Given the description of an element on the screen output the (x, y) to click on. 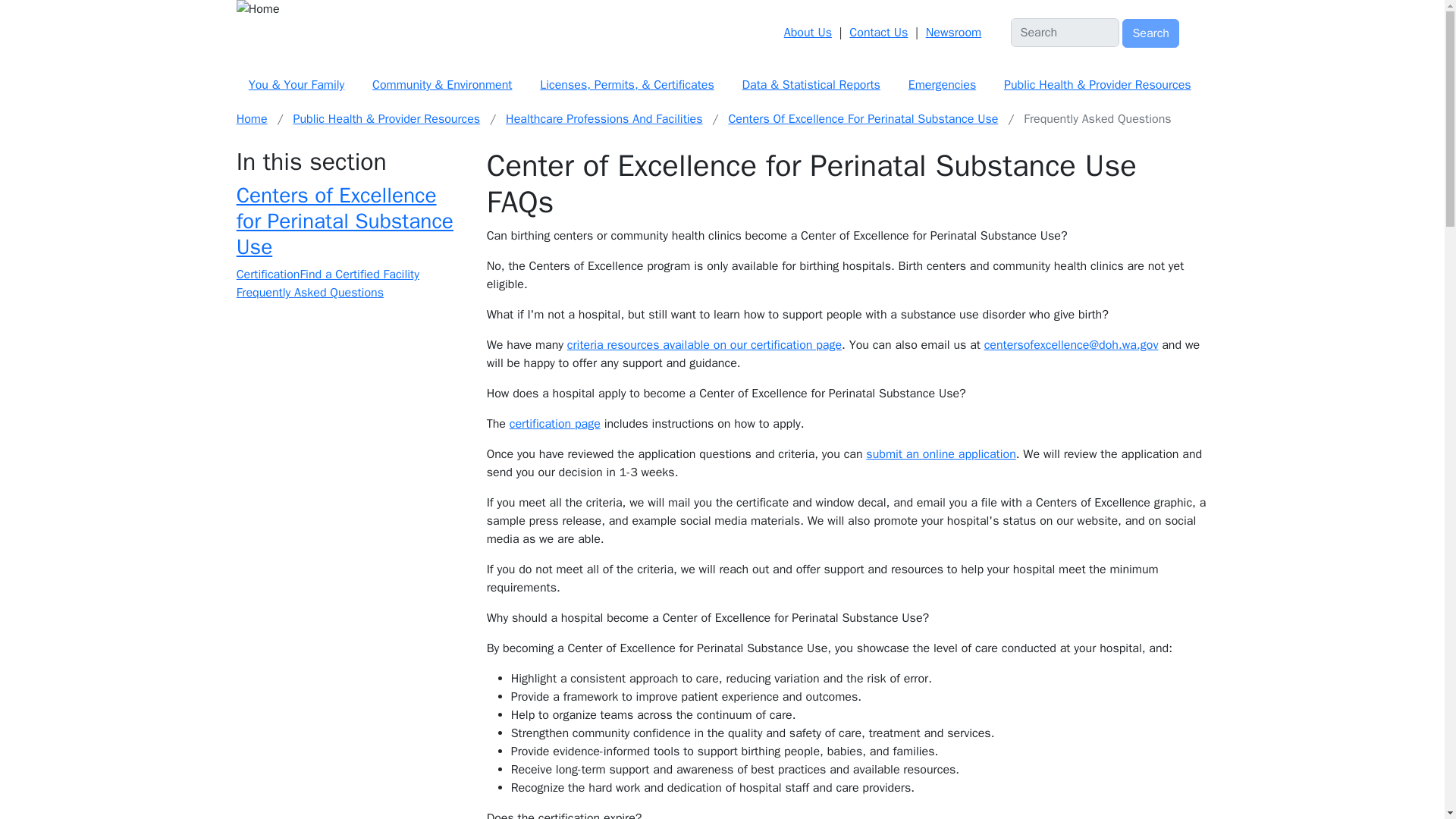
Contact Us (877, 32)
Home (707, 9)
About Us (807, 32)
Newsroom (953, 32)
Search (1150, 32)
Enter the terms you wish to search for. (1064, 32)
